Given the description of an element on the screen output the (x, y) to click on. 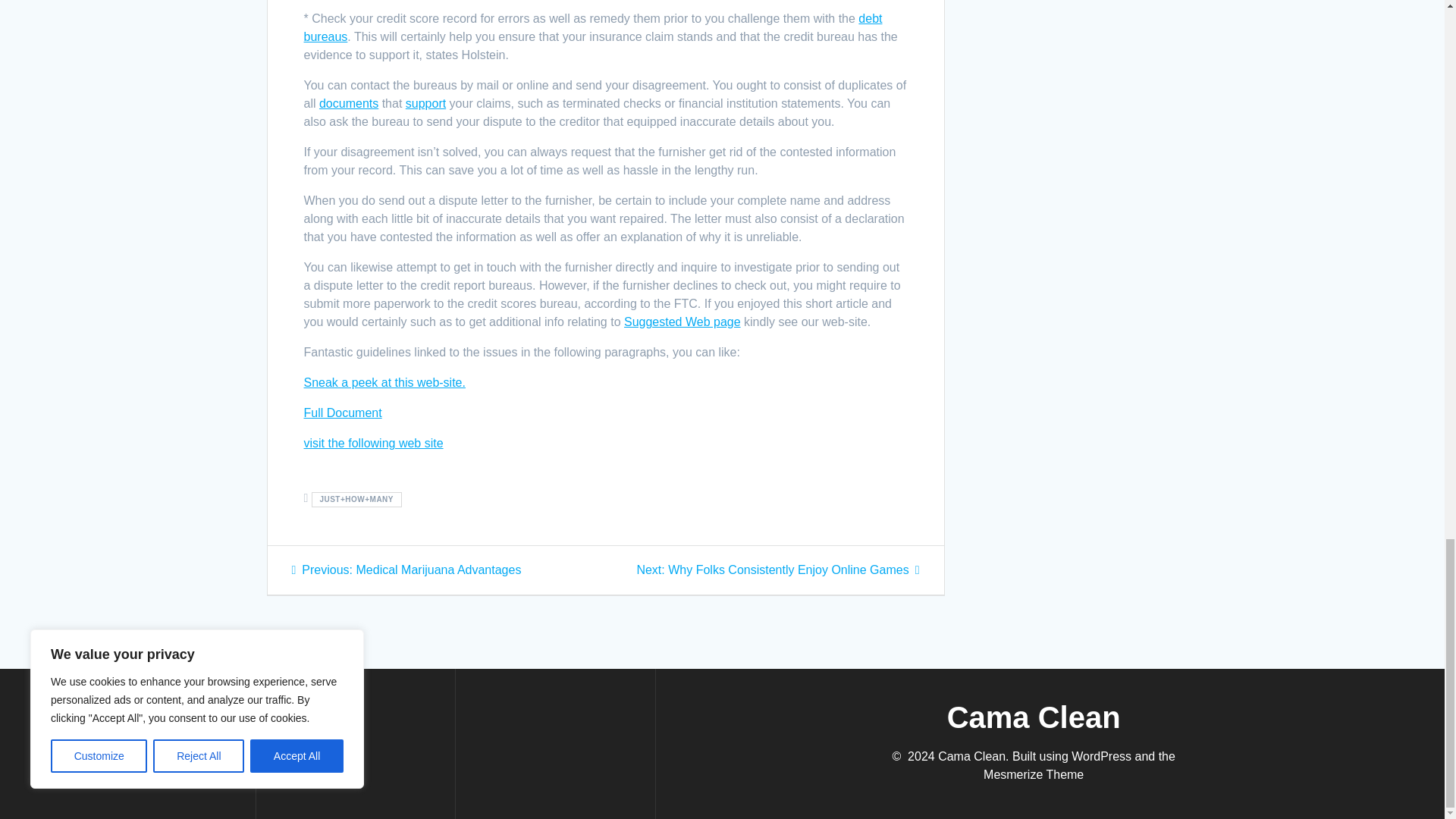
debt bureaus (592, 27)
support (425, 103)
Full Document (777, 569)
documents (341, 412)
visit the following web site (406, 569)
Sneak a peek at this web-site. (348, 103)
Suggested Web page (372, 442)
